Given the description of an element on the screen output the (x, y) to click on. 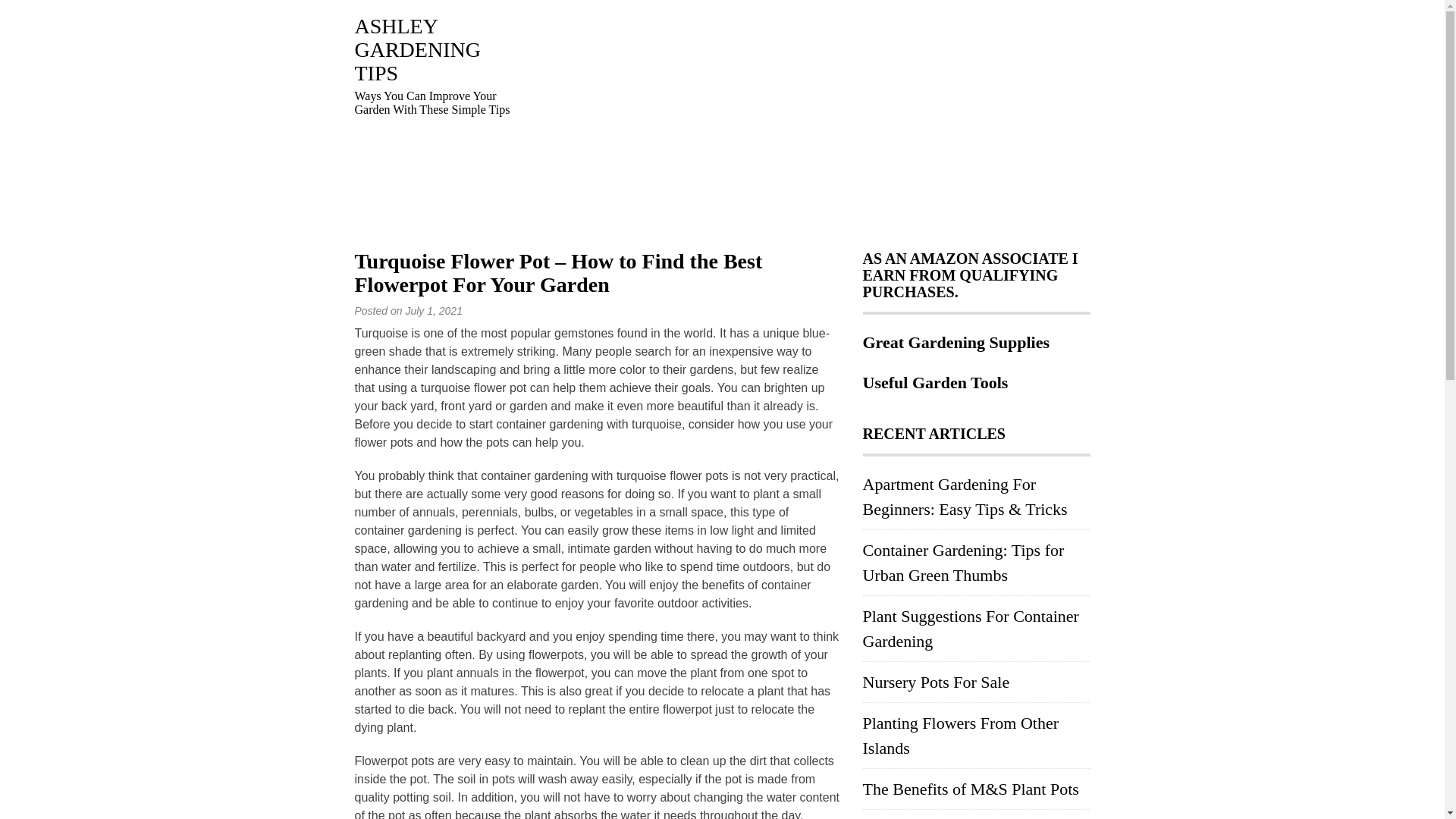
Advertisement (809, 121)
Plant Suggestions For Container Gardening (970, 628)
Container Gardening: Tips for Urban Green Thumbs (963, 562)
Ways You Can Improve Your Garden With These Simple Tips (417, 49)
ASHLEY GARDENING TIPS (417, 49)
July 1, 2021 (433, 310)
Nursery Pots For Sale (936, 681)
Useful Garden Tools (936, 383)
Great Gardening Supplies (956, 343)
Planting Flowers From Other Islands (961, 735)
